Given the description of an element on the screen output the (x, y) to click on. 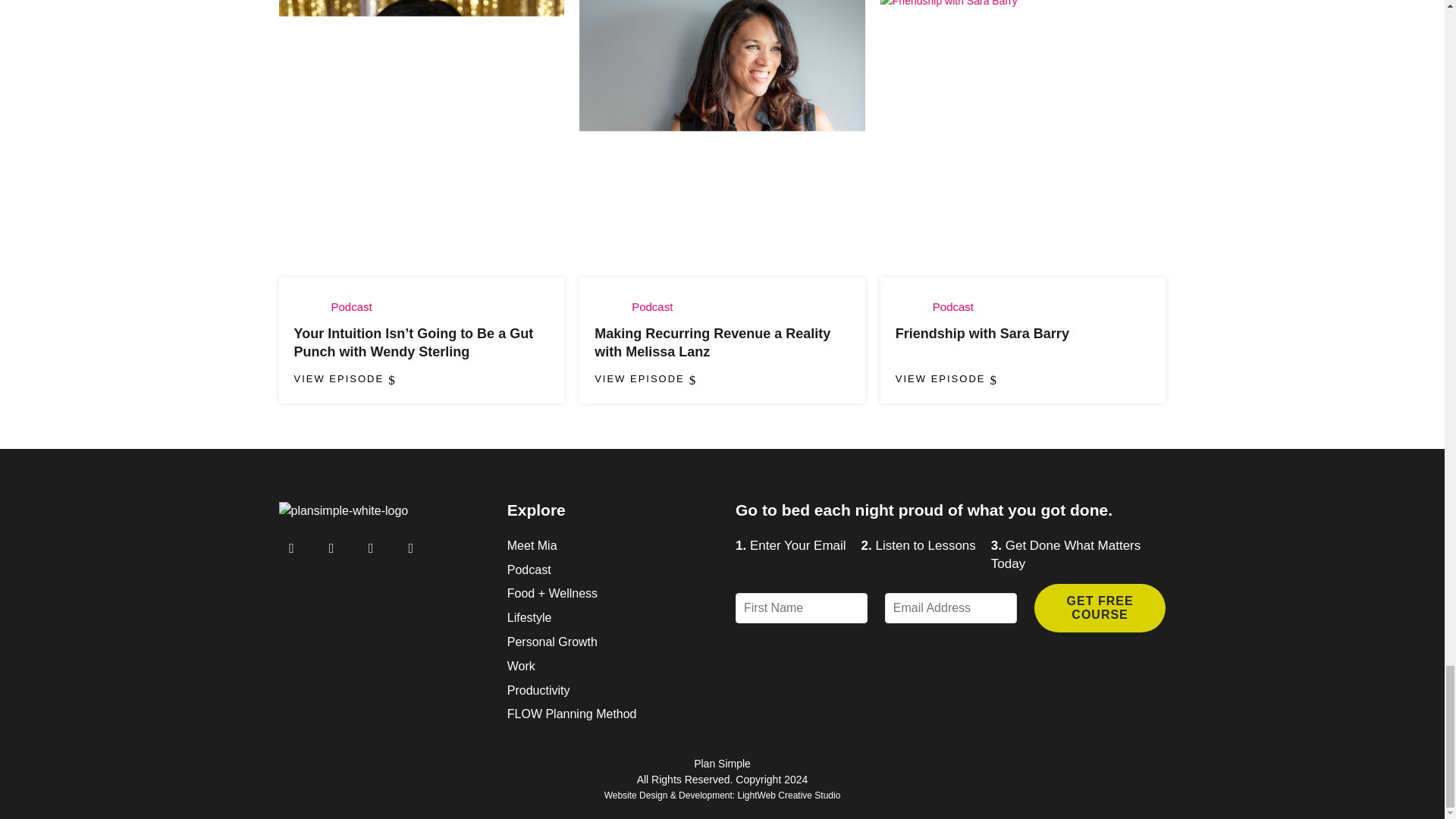
Friendship with Sara Barry (981, 333)
Podcast (953, 306)
VIEW EPISODE (342, 378)
facebook (371, 546)
Facebook (371, 546)
Twitter (410, 546)
Podcast (350, 306)
VIEW EPISODE (643, 378)
Making Recurring Revenue a Reality with Melissa Lanz (711, 342)
Podcast (651, 306)
